Given the description of an element on the screen output the (x, y) to click on. 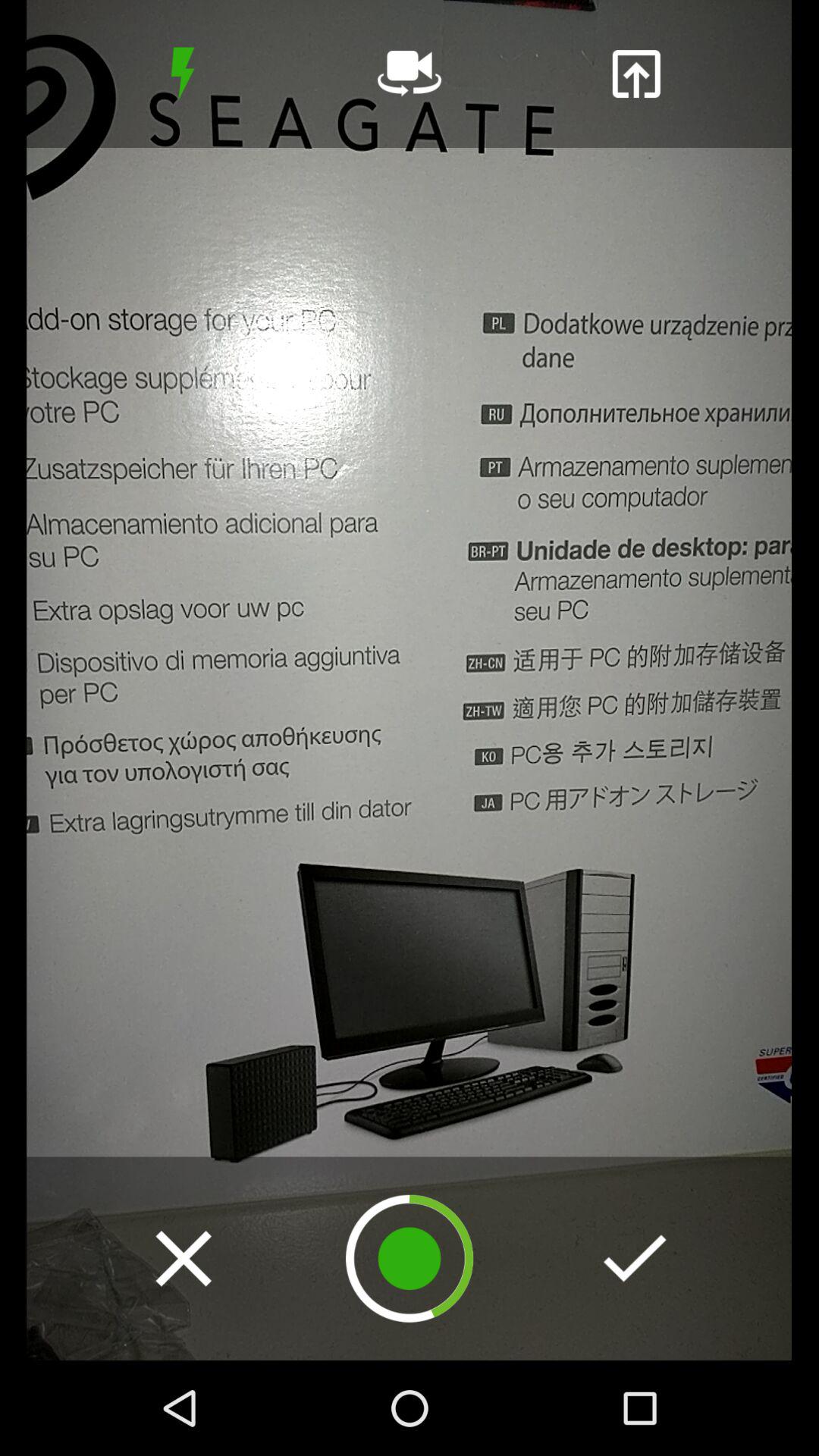
launch icon at the top left corner (182, 73)
